Given the description of an element on the screen output the (x, y) to click on. 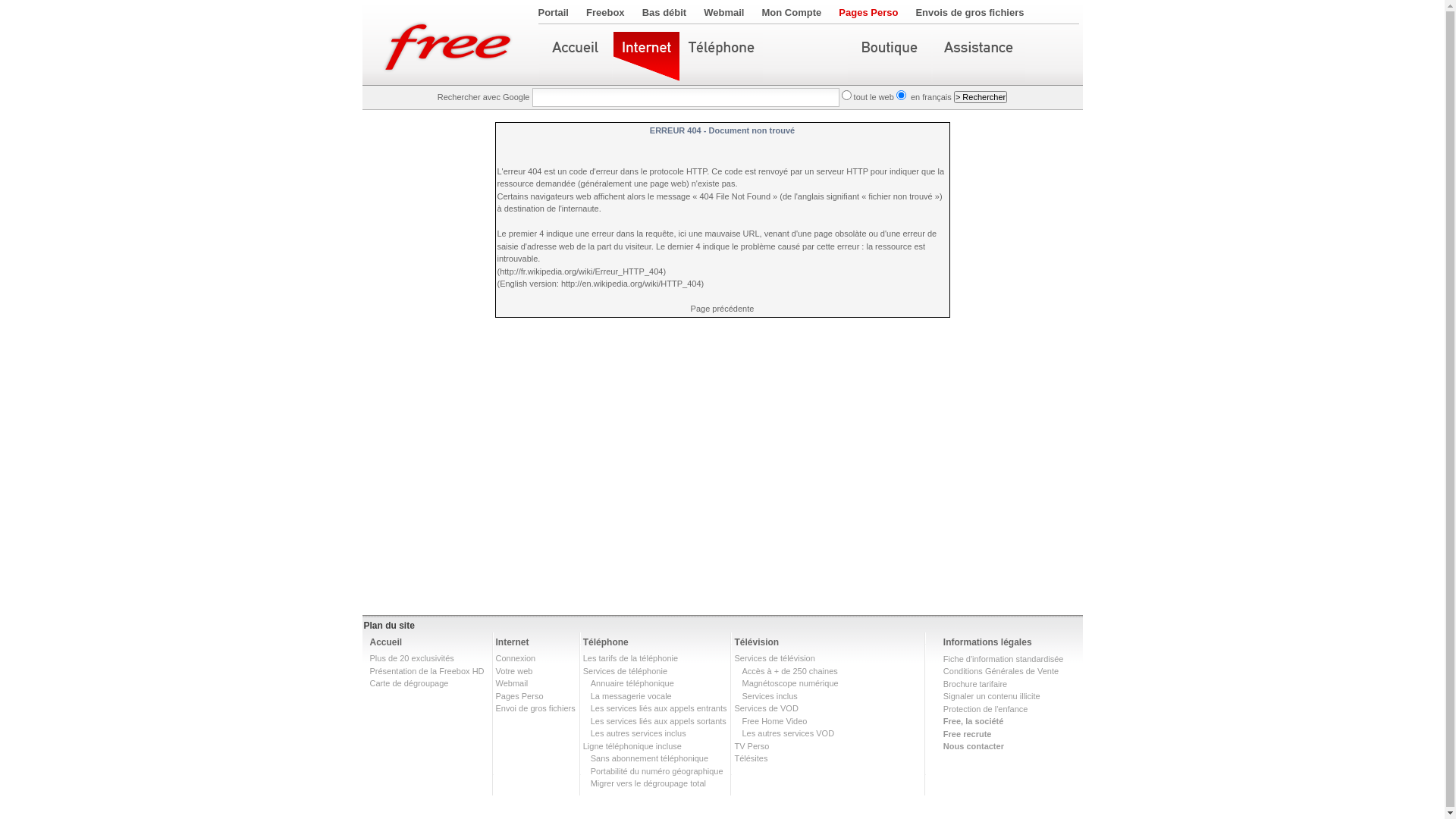
Webmail Element type: text (723, 12)
Les autres services inclus Element type: text (638, 732)
Mon Compte Element type: text (792, 12)
Votre web Element type: text (514, 669)
Free Home Video Element type: text (773, 719)
Services inclus Element type: text (769, 695)
Services de VOD Element type: text (765, 707)
Brochure tarifaire Element type: text (975, 683)
Envois de gros fichiers Element type: text (969, 12)
Freebox Element type: text (605, 12)
Portail Element type: text (553, 12)
Webmail Element type: text (511, 682)
Internet Element type: text (512, 642)
Pages Perso Element type: text (519, 695)
La messagerie vocale Element type: text (630, 695)
Accueil Element type: text (386, 642)
Nous contacter Element type: text (973, 745)
Signaler un contenu illicite Element type: text (991, 695)
Envoi de gros fichiers Element type: text (535, 707)
http://fr.wikipedia.org/wiki/Erreur_HTTP_404 Element type: text (580, 271)
Protection de l'enfance Element type: text (985, 707)
http://en.wikipedia.org/wiki/HTTP_404 Element type: text (631, 283)
Pages Perso Element type: text (867, 12)
Free recrute Element type: text (967, 733)
Connexion Element type: text (515, 657)
TV Perso Element type: text (751, 745)
Les autres services VOD Element type: text (787, 732)
> Rechercher Element type: text (980, 97)
